Given the description of an element on the screen output the (x, y) to click on. 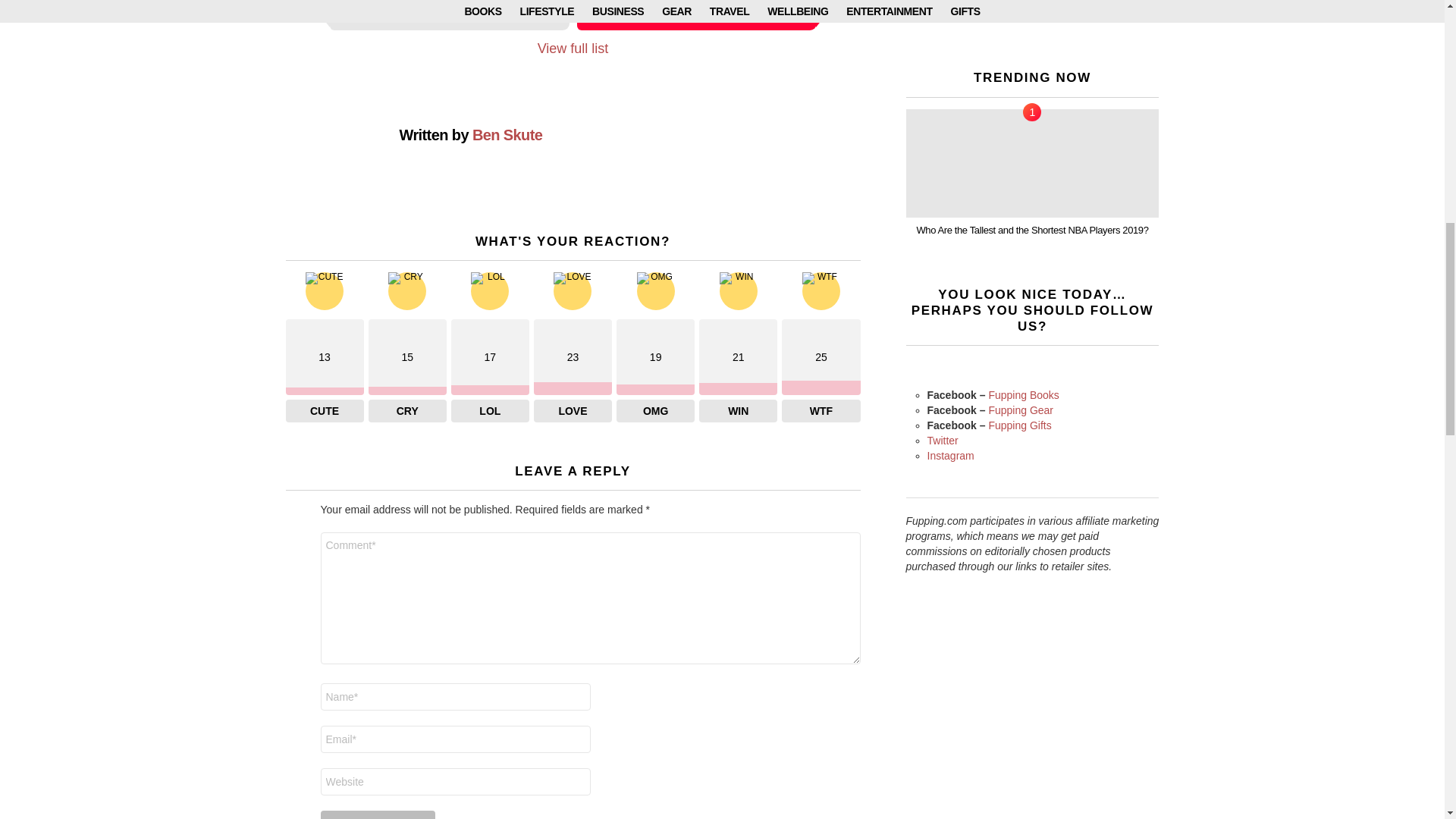
View full list (572, 47)
Who Are the Tallest and the Shortest NBA Players 2019? (1031, 162)
PREVIOUS SUBMISSION (449, 15)
NEXT SUBMISSION (695, 15)
Post Comment (377, 814)
